Given the description of an element on the screen output the (x, y) to click on. 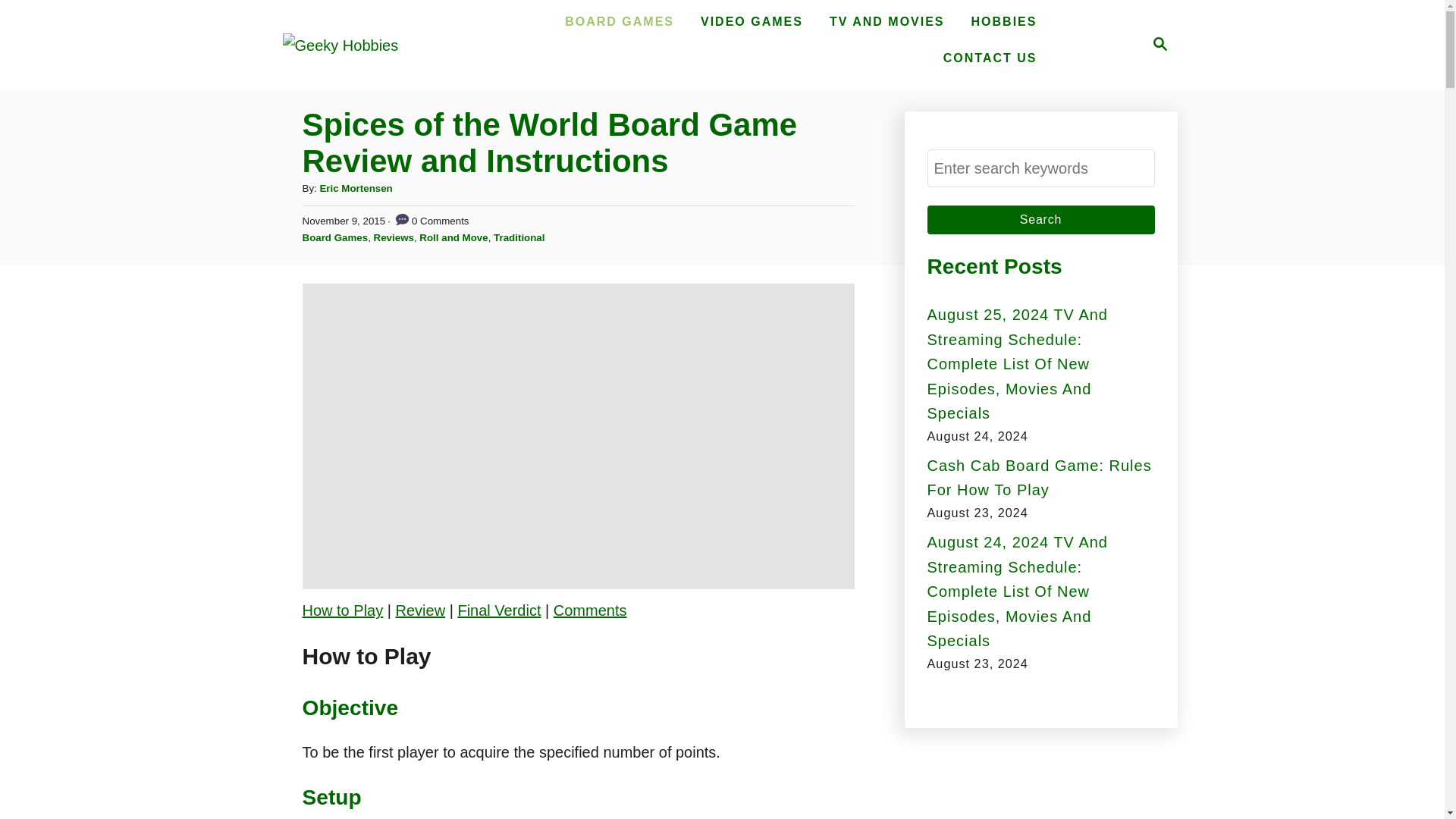
Roll and Move (453, 237)
Board Games (334, 237)
Magnifying Glass (1160, 44)
Comments (590, 610)
Reviews (393, 237)
Board Game Posts (619, 21)
CONTACT US (990, 58)
Review (420, 610)
Search (1040, 219)
VIDEO GAMES (751, 21)
